Given the description of an element on the screen output the (x, y) to click on. 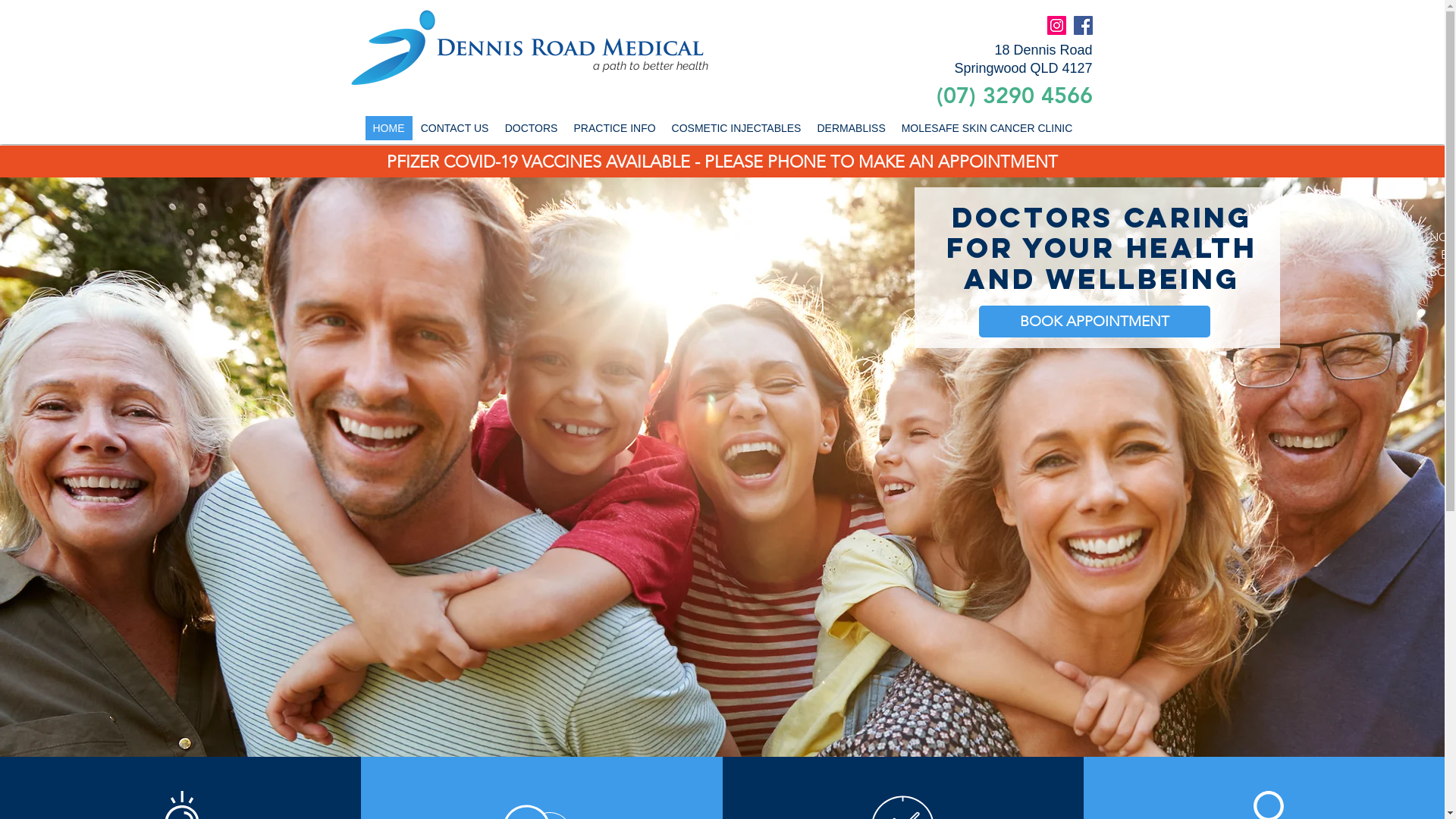
HOME Element type: text (387, 128)
MOLESAFE SKIN CANCER CLINIC Element type: text (986, 128)
CONTACT US Element type: text (454, 128)
DERMABLISS Element type: text (850, 128)
DOCTORS Element type: text (529, 128)
COSMETIC INJECTABLES Element type: text (735, 128)
BOOK APPOINTMENT Element type: text (1094, 321)
PRACTICE INFO Element type: text (614, 128)
